Given the description of an element on the screen output the (x, y) to click on. 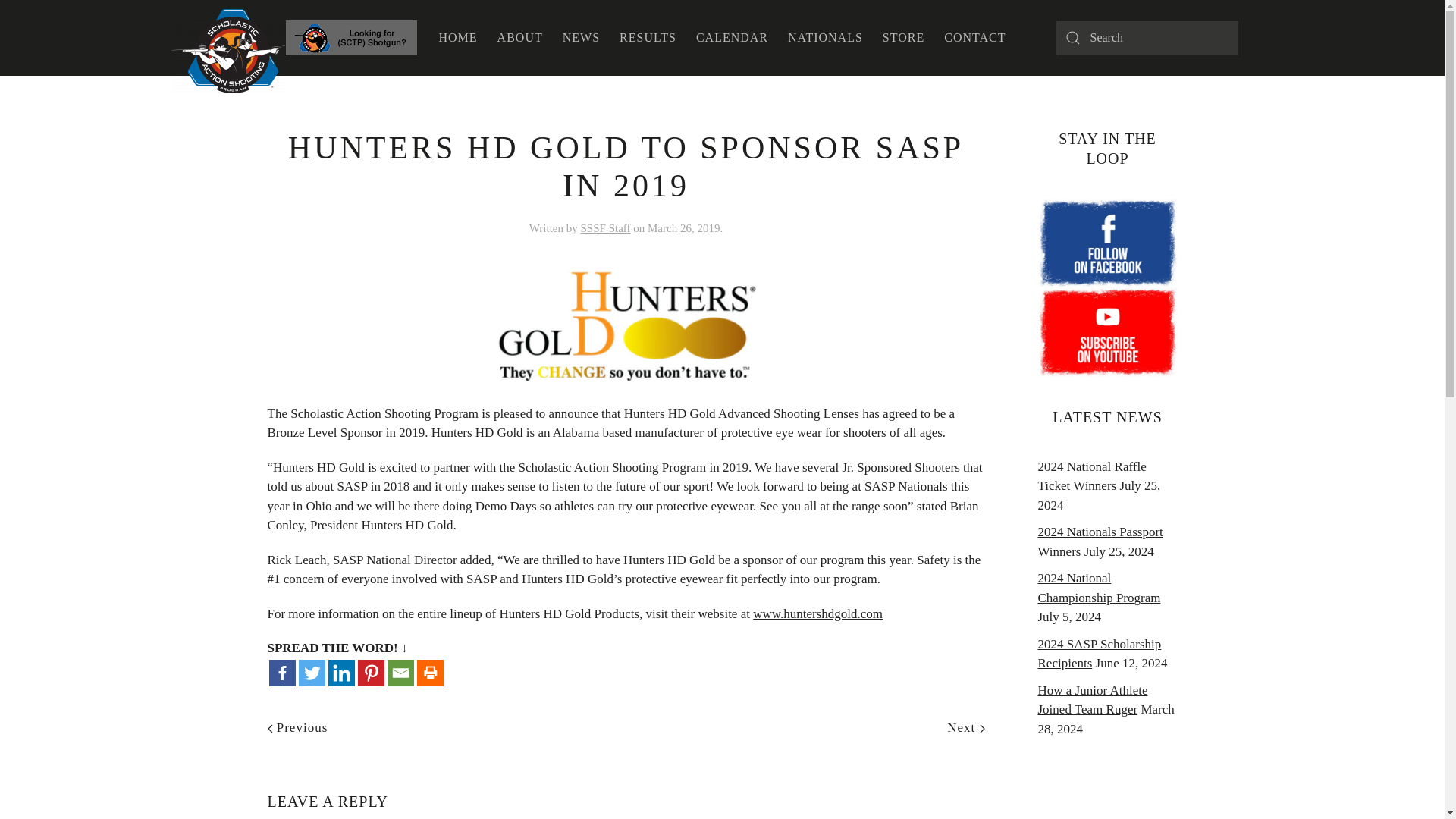
Print (430, 673)
RESULTS (647, 38)
CALENDAR (731, 38)
Twitter (311, 673)
Facebook (281, 673)
SSSF Staff (605, 227)
NATIONALS (824, 38)
CONTACT (974, 38)
Linkedin (340, 673)
Email (400, 673)
Pinterest (371, 673)
